Given the description of an element on the screen output the (x, y) to click on. 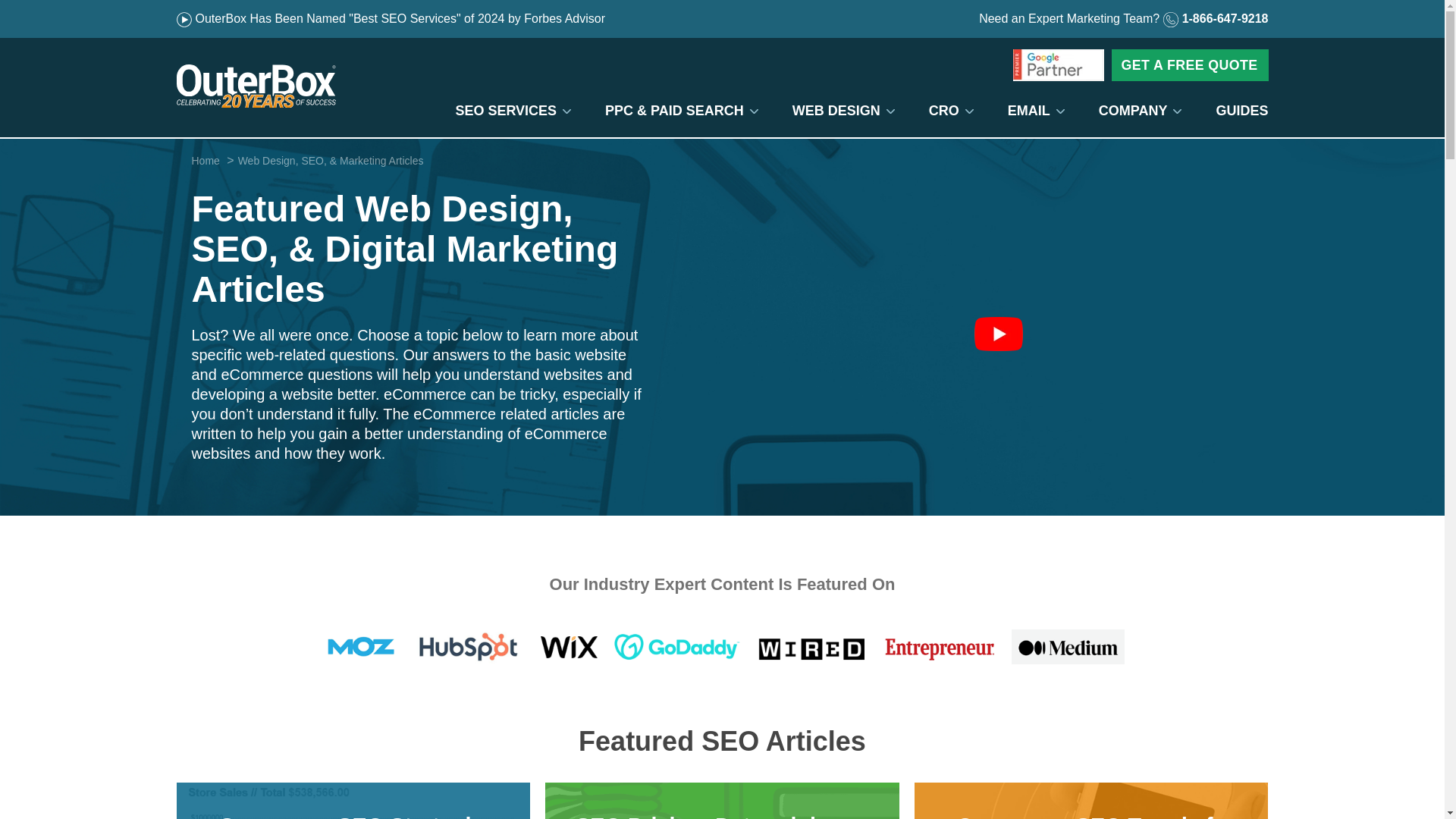
GET A FREE QUOTE (1190, 65)
WEB DESIGN (836, 111)
CRO (944, 111)
1-866-647-9218 (1215, 18)
PPC Management (673, 111)
SEO SERVICES (505, 111)
SEO Services by Outerbox (505, 111)
